Given the description of an element on the screen output the (x, y) to click on. 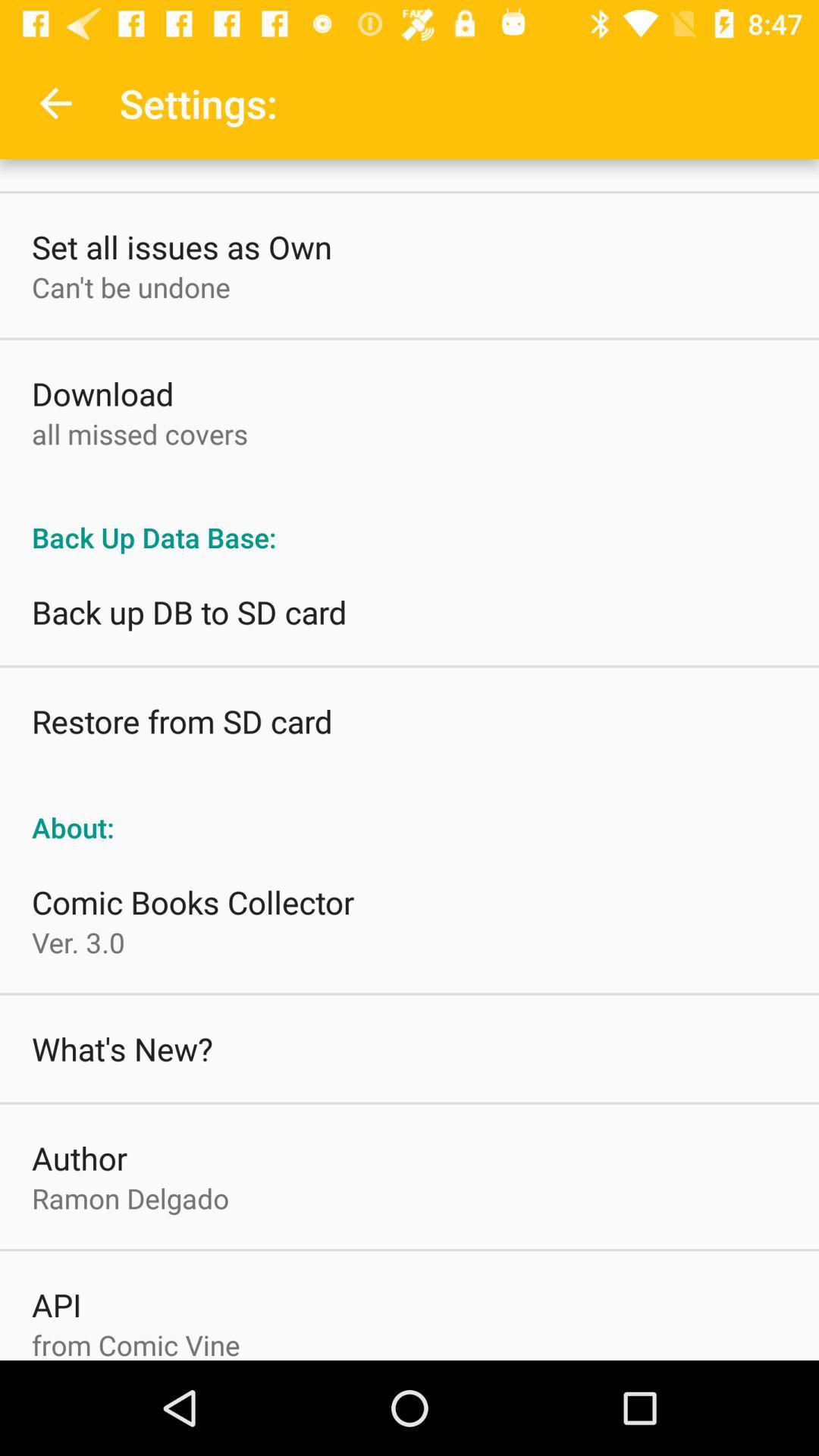
press item above set all issues icon (55, 103)
